Given the description of an element on the screen output the (x, y) to click on. 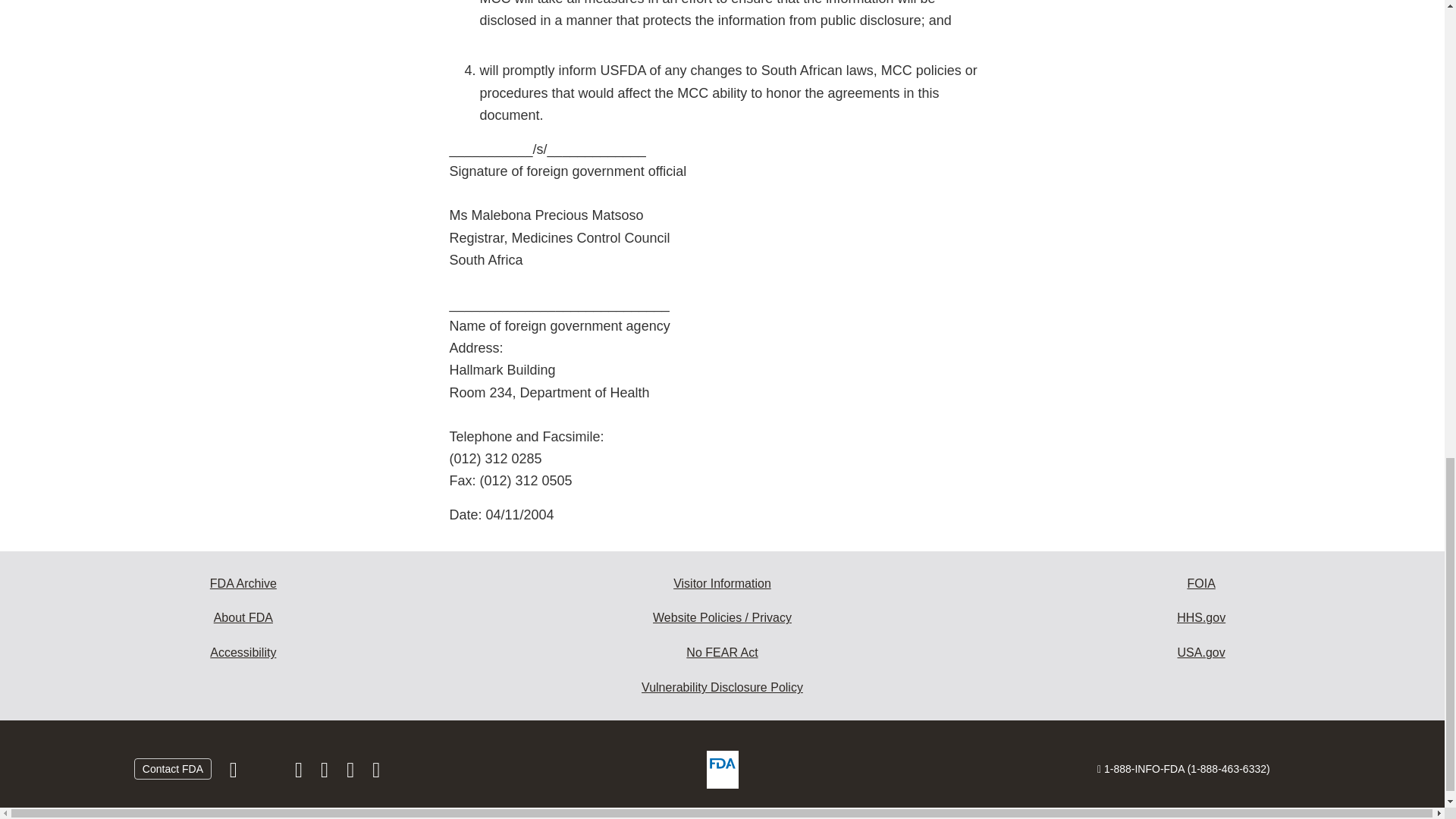
Follow FDA on Instagram (299, 773)
Follow FDA on X (266, 773)
Follow FDA on LinkedIn (326, 773)
Freedom of Information Act (1200, 583)
Health and Human Services (1200, 617)
Subscribe to FDA RSS feeds (376, 773)
View FDA videos on YouTube (352, 773)
Follow FDA on Facebook (234, 773)
